Given the description of an element on the screen output the (x, y) to click on. 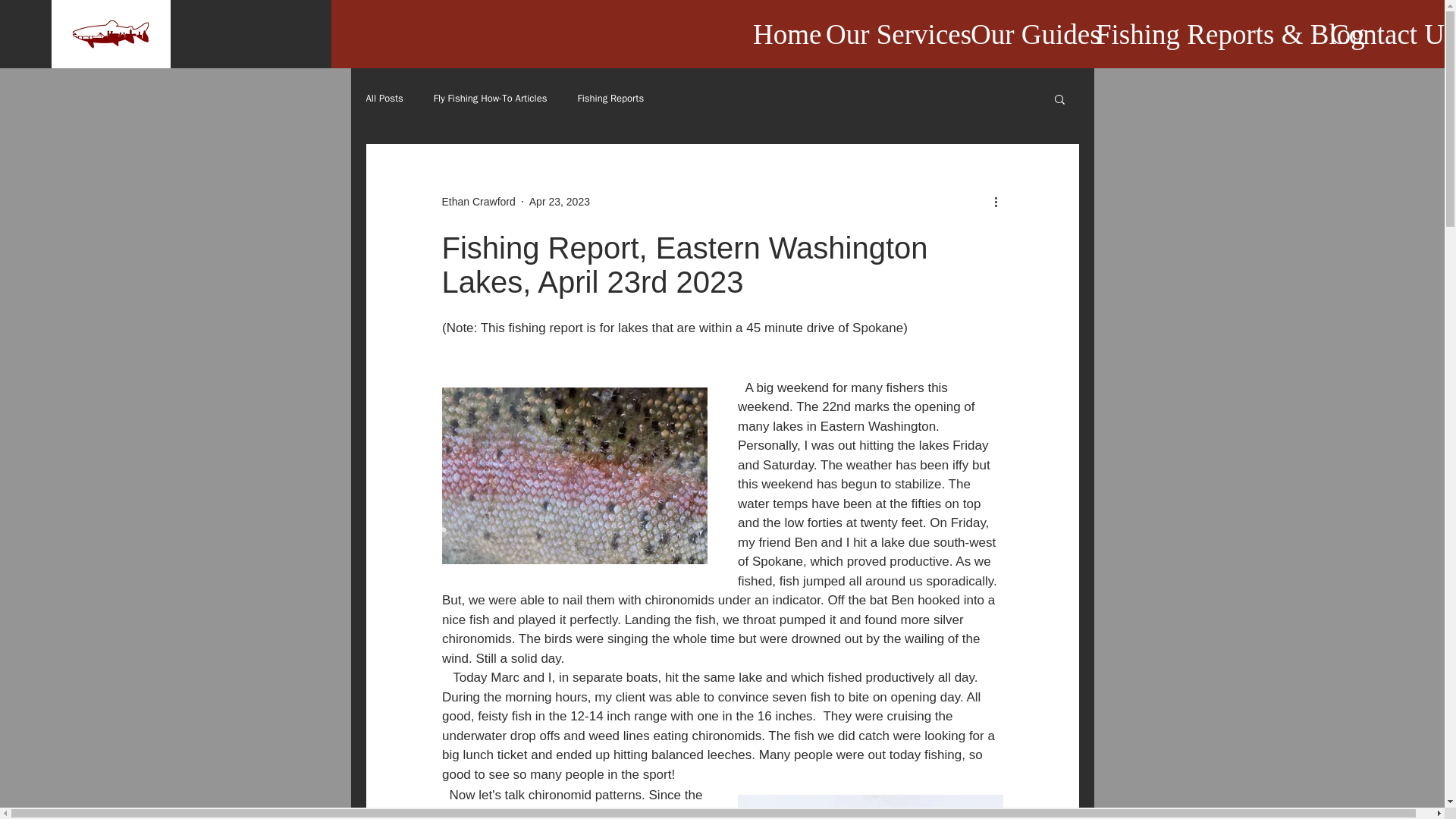
Our Guides (1021, 34)
Ethan Crawford (478, 201)
Contact Us (1381, 34)
Fly Fishing How-To Articles (490, 98)
Our Services (886, 34)
Home (777, 34)
All Posts (384, 98)
Apr 23, 2023 (559, 201)
Fishing Reports (609, 98)
